Given the description of an element on the screen output the (x, y) to click on. 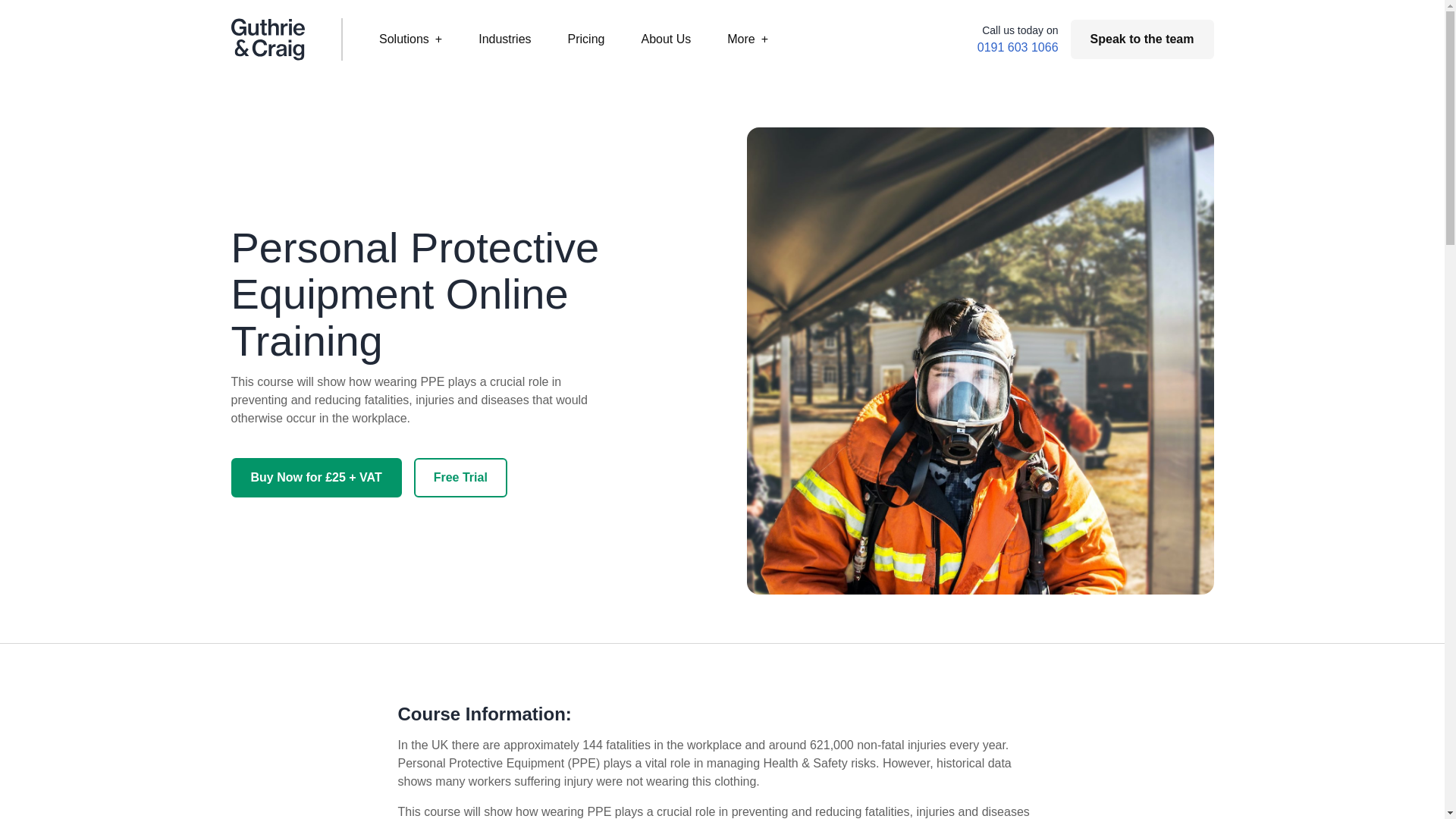
Industries (504, 39)
Industries (504, 39)
Solutions (410, 39)
About Us (666, 39)
Speak to the team (1142, 38)
More (747, 39)
Pricing (586, 39)
More (747, 39)
About Us (666, 39)
Solutions (410, 39)
